Given the description of an element on the screen output the (x, y) to click on. 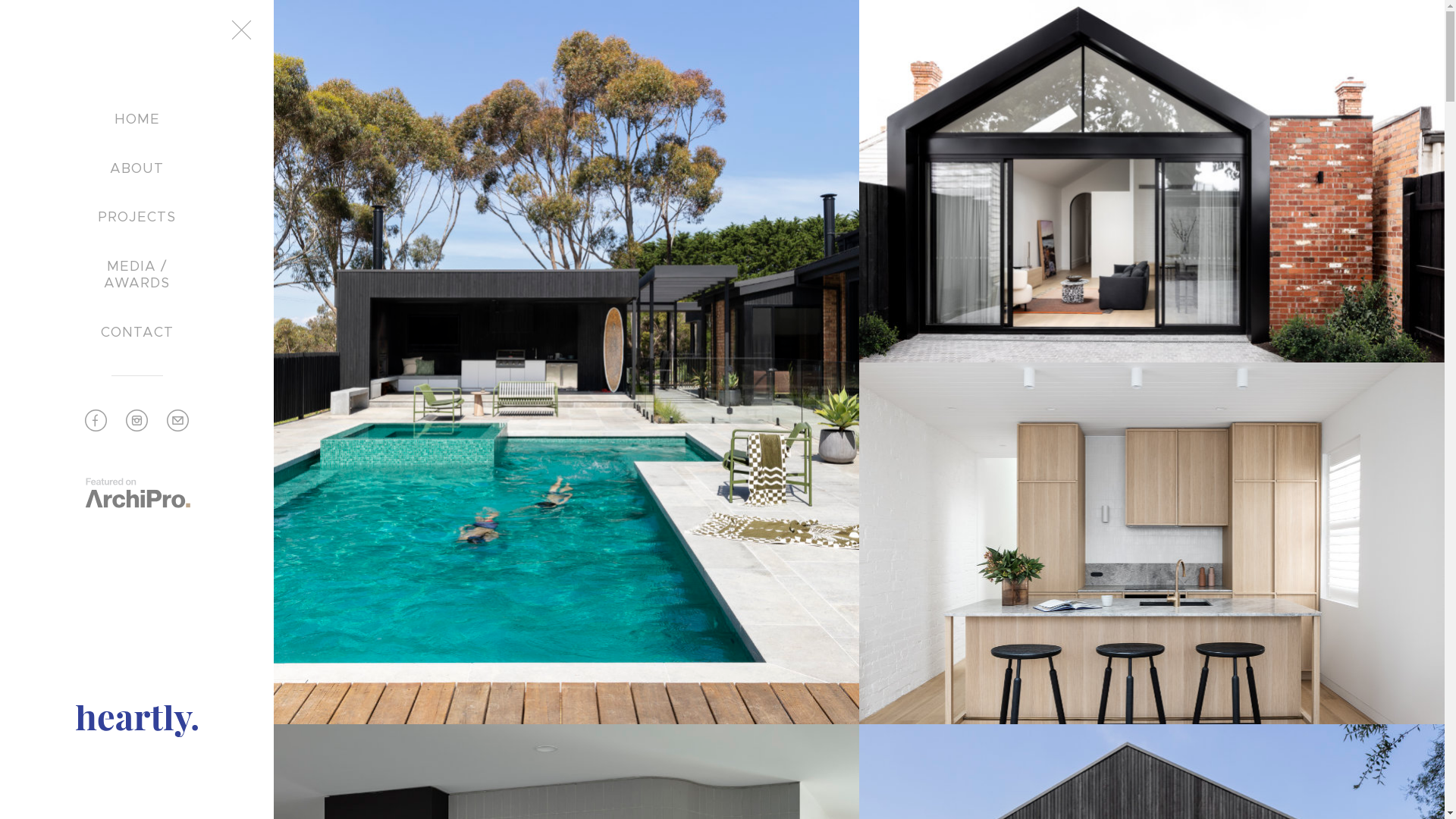
HOME Element type: text (136, 119)
MEDIA / AWARDS Element type: text (136, 274)
ABOUT Element type: text (136, 168)
PROJECTS Element type: text (136, 217)
CONTACT Element type: text (136, 332)
